Given the description of an element on the screen output the (x, y) to click on. 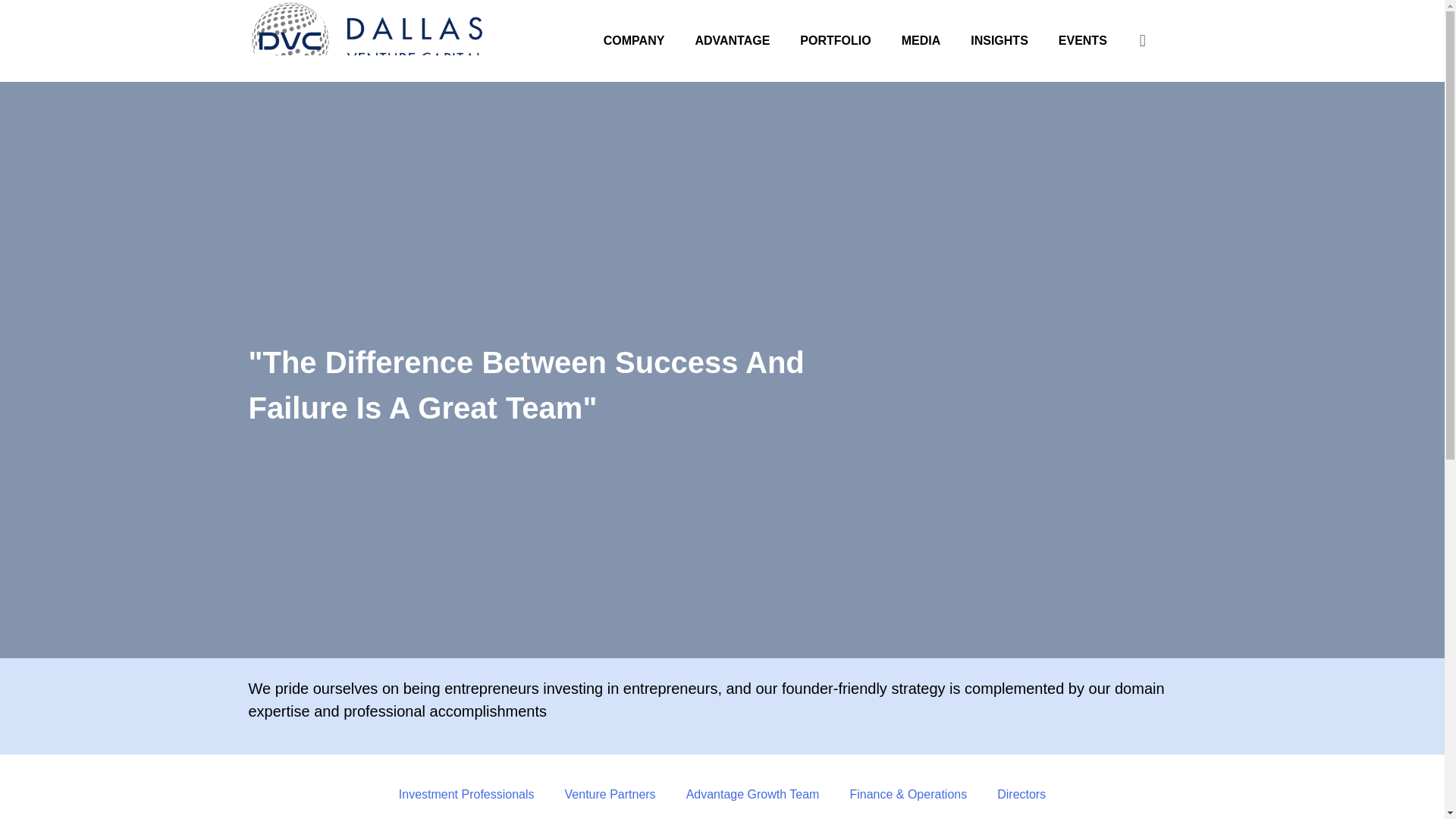
INSIGHTS (999, 40)
EVENTS (1082, 40)
ADVANTAGE (731, 40)
COMPANY (633, 40)
MEDIA (921, 40)
PORTFOLIO (834, 40)
